Given the description of an element on the screen output the (x, y) to click on. 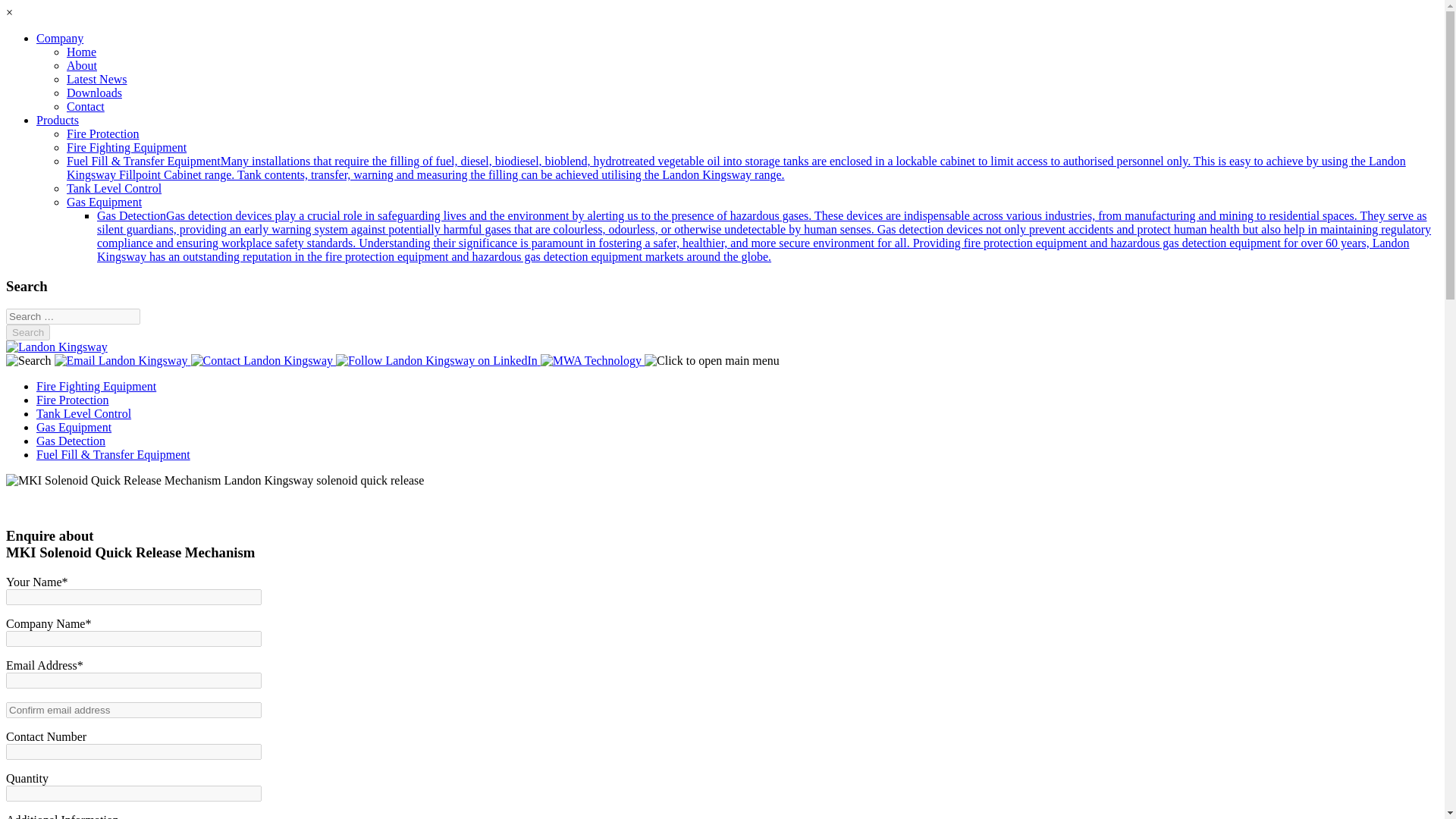
Company (59, 38)
Contact (85, 106)
Search (27, 332)
Home (81, 51)
Gas Equipment (103, 201)
Latest News (97, 78)
Tank Level Control (83, 413)
Fire Fighting Equipment (95, 386)
About (81, 65)
Tank Level Control (113, 187)
Fire Protection (102, 133)
Visit MWA Technology (591, 360)
Fire Fighting Equipment (126, 146)
Gas Detection (70, 440)
Products (57, 119)
